Given the description of an element on the screen output the (x, y) to click on. 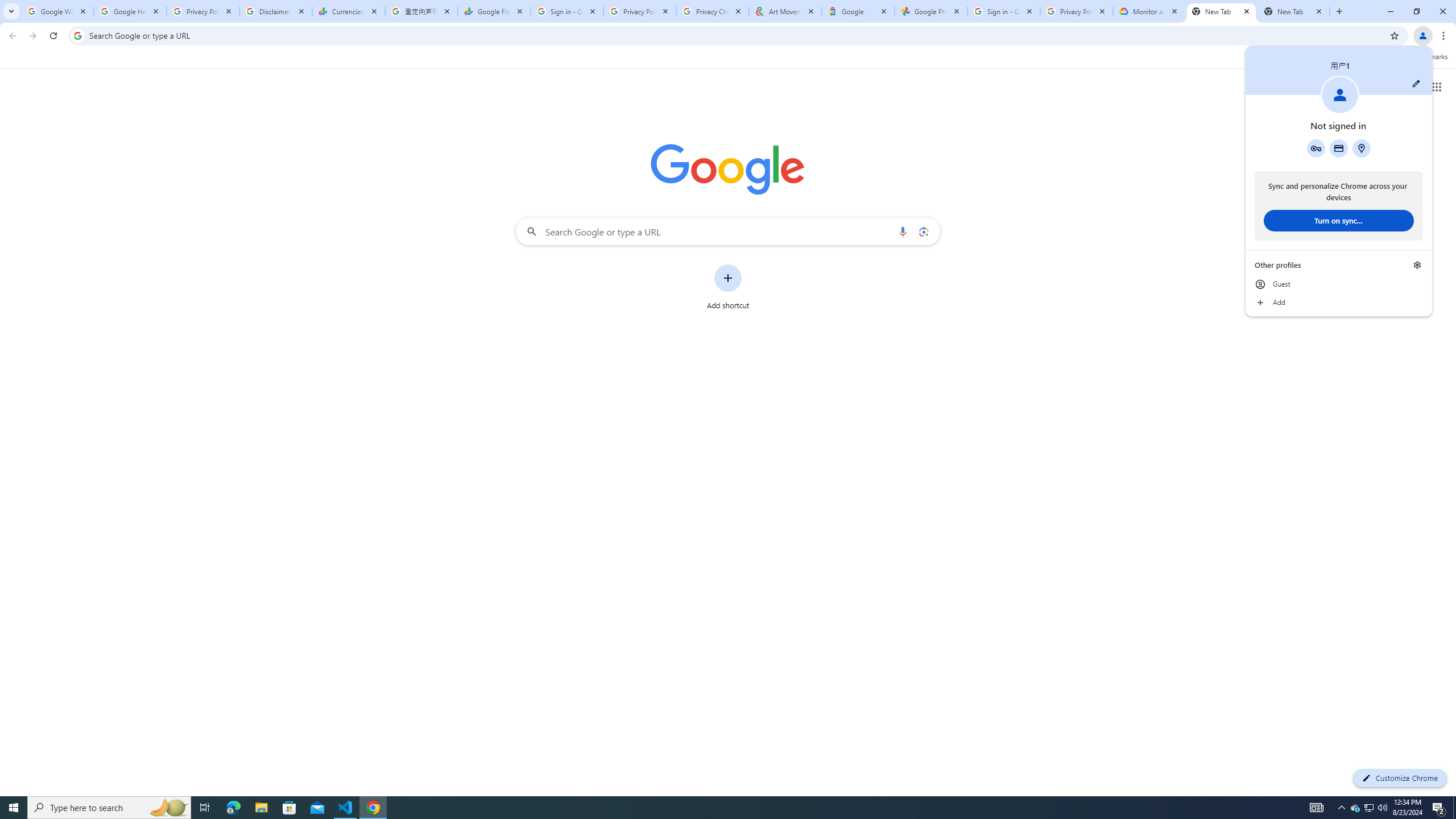
Addresses and more (1361, 148)
Add shortcut (1355, 807)
Add (727, 287)
New Tab (1338, 302)
Q2790: 100% (1221, 11)
Type here to search (1382, 807)
Microsoft Edge (108, 807)
Google Workspace Admin Community (233, 807)
Currencies - Google Finance (57, 11)
Visual Studio Code - 1 running window (348, 11)
